Given the description of an element on the screen output the (x, y) to click on. 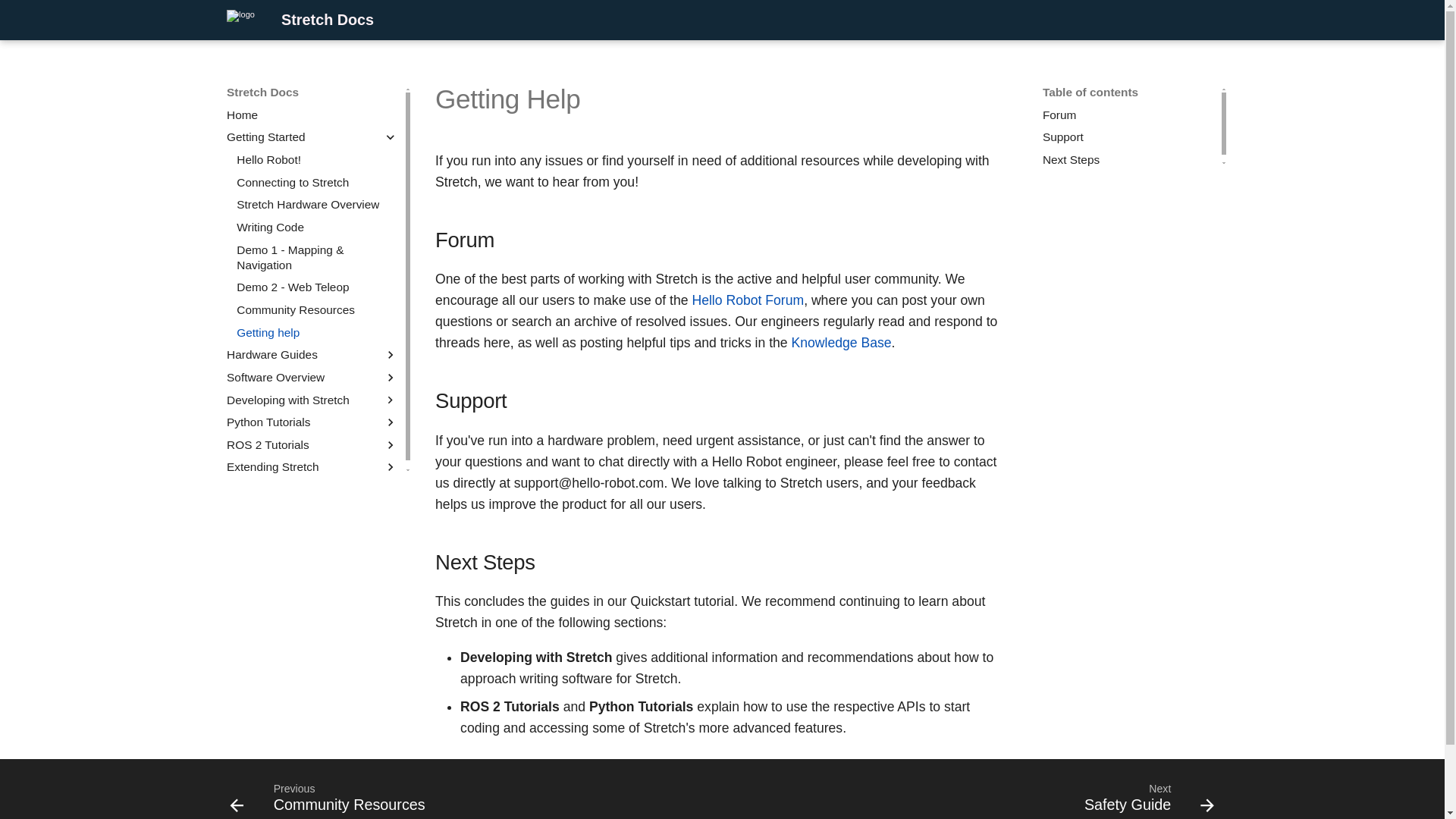
Home (312, 114)
Writing Code (316, 227)
Connecting to Stretch (316, 182)
Community Resources (316, 309)
Getting help (316, 332)
Demo 2 - Web Teleop (1129, 126)
Stretch Hardware Overview (316, 287)
Stretch Docs (316, 204)
Hello Robot! (239, 19)
